Given the description of an element on the screen output the (x, y) to click on. 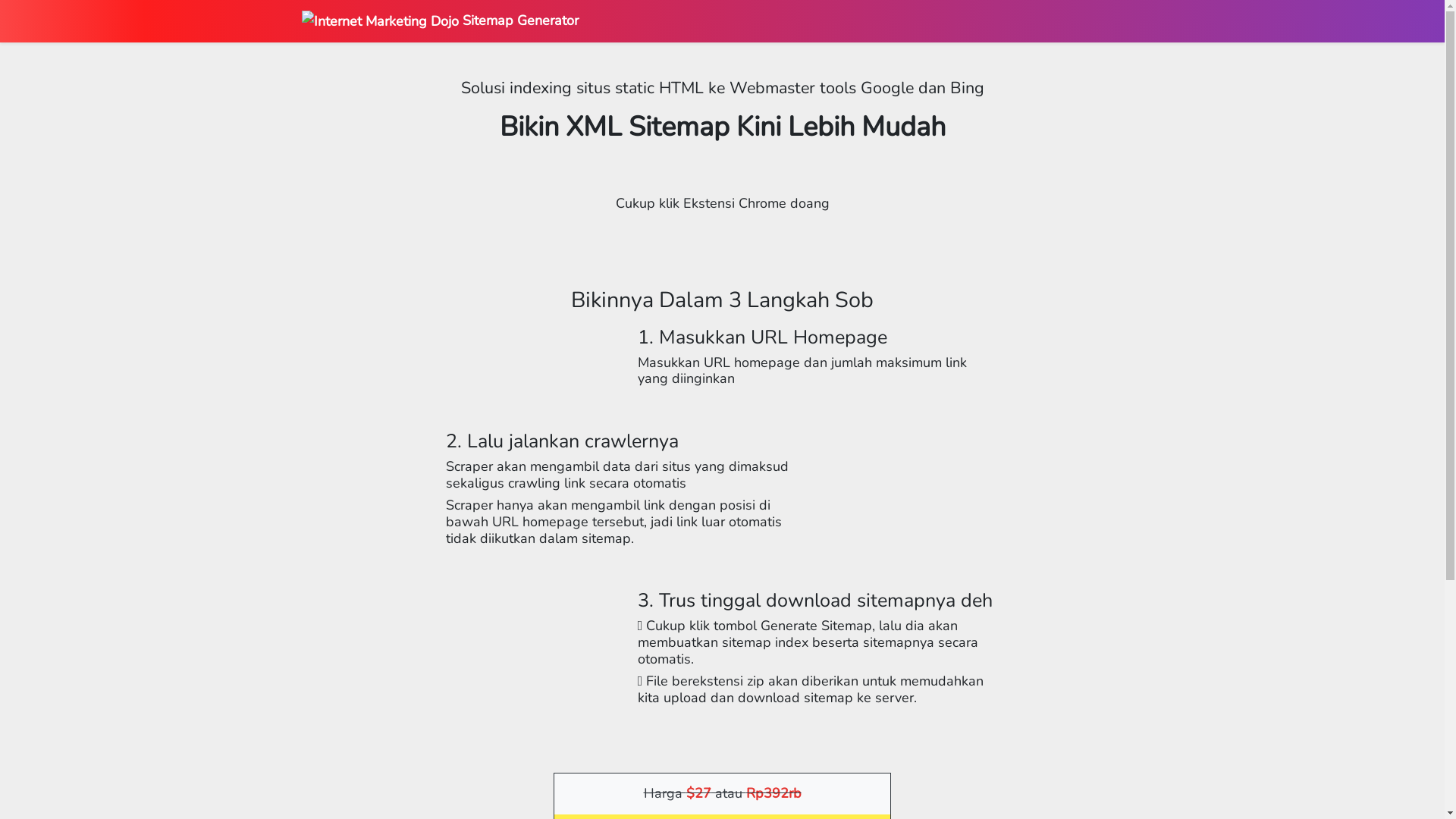
Sitemap Generator Element type: text (439, 21)
